Given the description of an element on the screen output the (x, y) to click on. 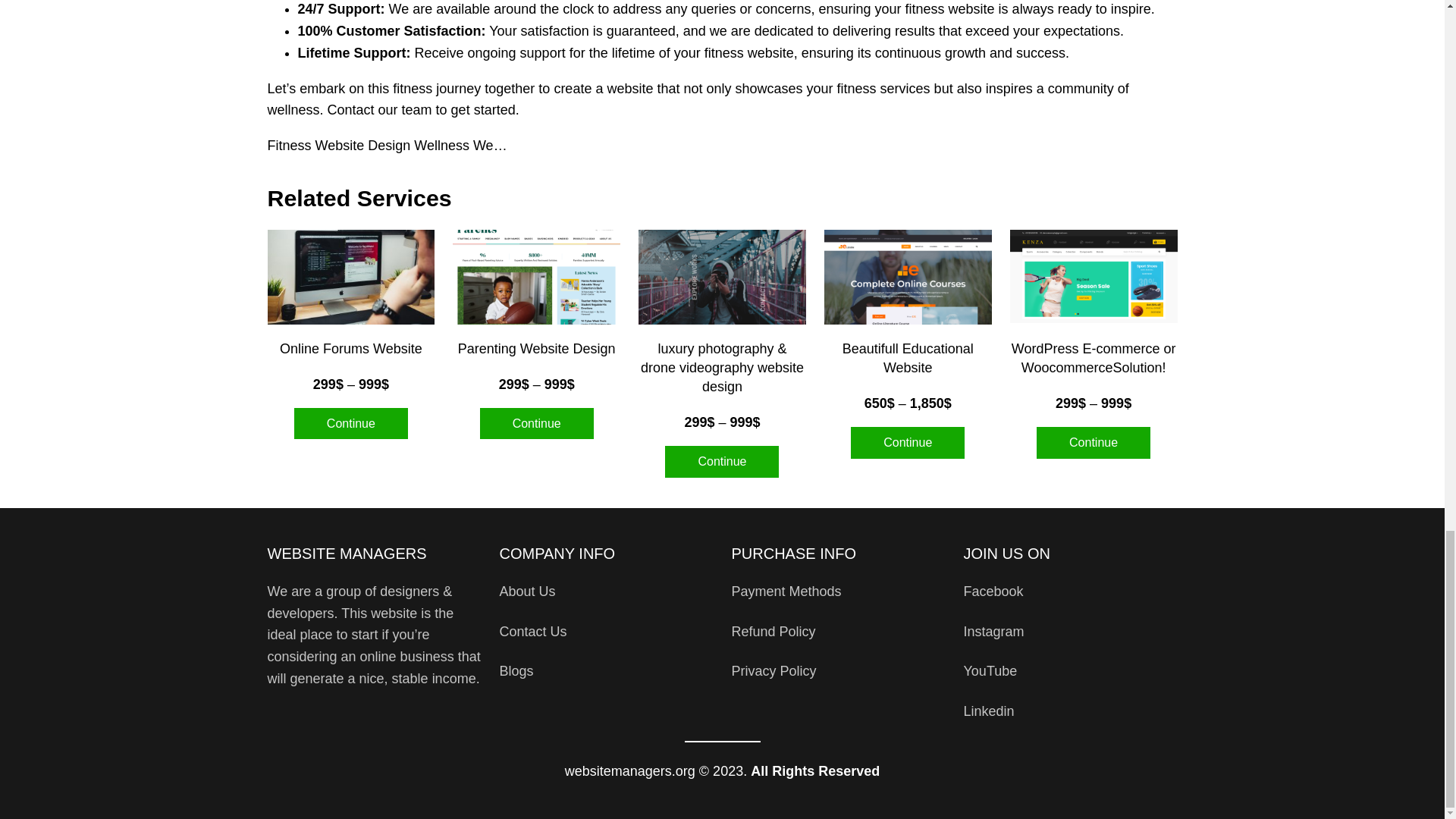
Continue (906, 442)
Online Forums Website (350, 348)
Beautifull Educational Website (907, 358)
Parenting Website Design (536, 348)
Continue (350, 423)
Continue (537, 423)
Continue (721, 461)
